Given the description of an element on the screen output the (x, y) to click on. 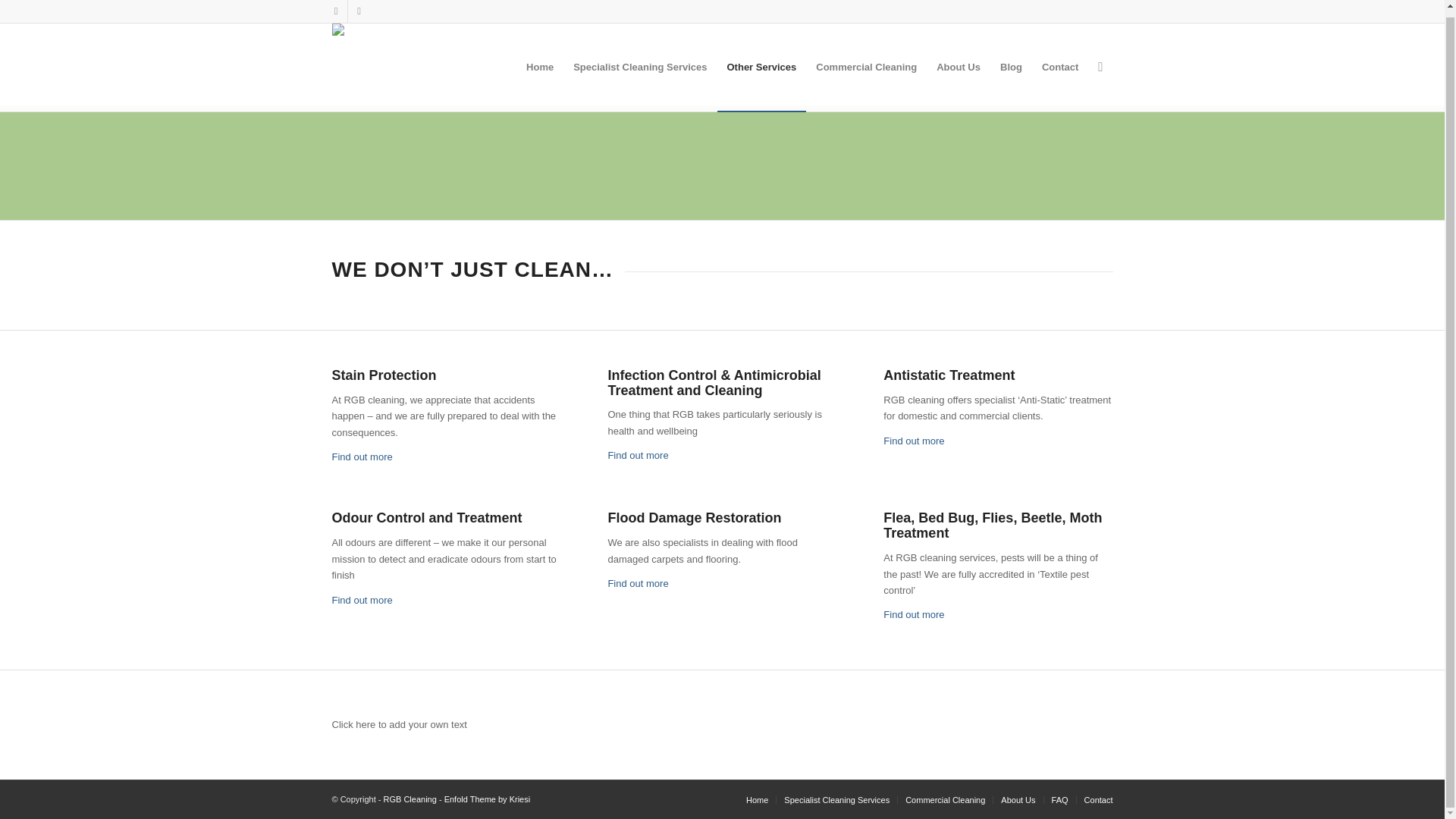
Find out more (913, 440)
Stain protection for Carpets and Upholstery (362, 456)
Flea, Bed Bug, Flies, Beetle, Moth Treatment (913, 614)
Find out more (362, 456)
Antistatic Treatment (913, 440)
Find out more (362, 600)
Commercial Cleaning (866, 61)
Facebook (335, 8)
Flood Damage (637, 583)
Find out more (637, 455)
Specialist Cleaning Services (639, 61)
Other Services (761, 61)
Mail (358, 8)
Odour Control and treatment (362, 600)
